Given the description of an element on the screen output the (x, y) to click on. 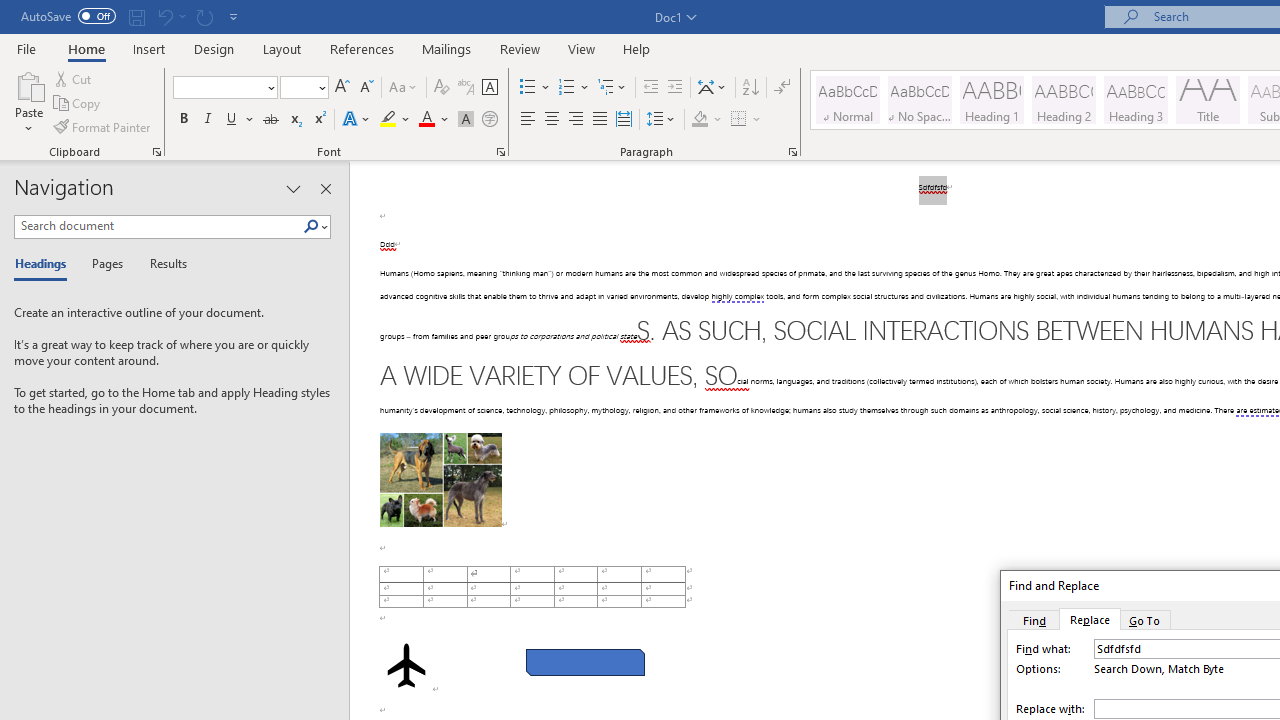
Sort... (750, 87)
Decrease Indent (650, 87)
Italic (207, 119)
Enclose Characters... (489, 119)
Character Border (489, 87)
Repeat Paragraph Alignment (204, 15)
Heading 2 (1063, 100)
Go To (1145, 619)
Results (161, 264)
Headings (45, 264)
